Given the description of an element on the screen output the (x, y) to click on. 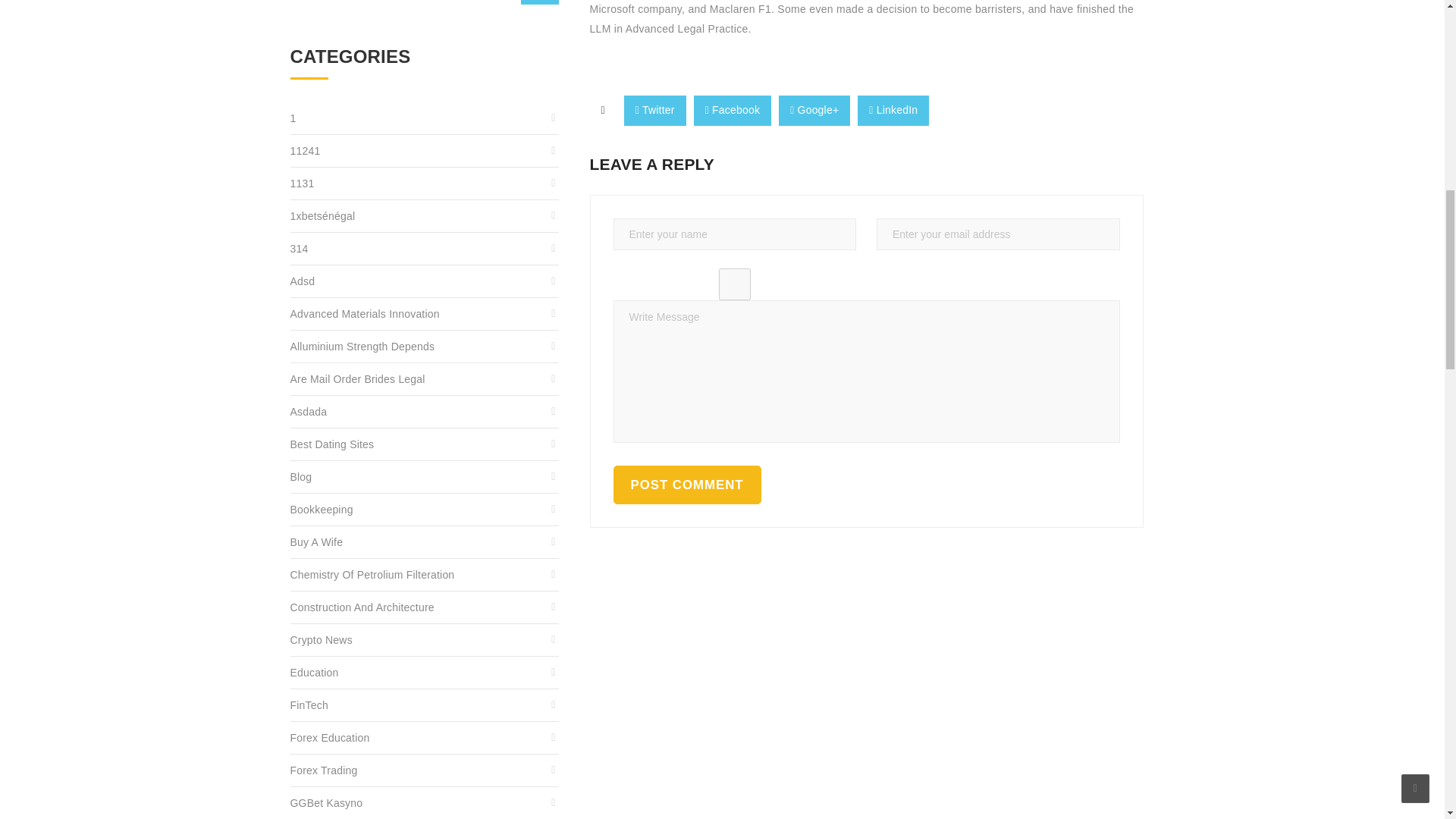
yes (734, 284)
Twitter (654, 110)
Share via Twitter (654, 110)
LinkedIn (892, 110)
Post Comment (686, 485)
Facebook (732, 110)
1 (424, 118)
Share via Facebook (732, 110)
Share via LinkedIn (892, 110)
Post Comment (686, 485)
